Given the description of an element on the screen output the (x, y) to click on. 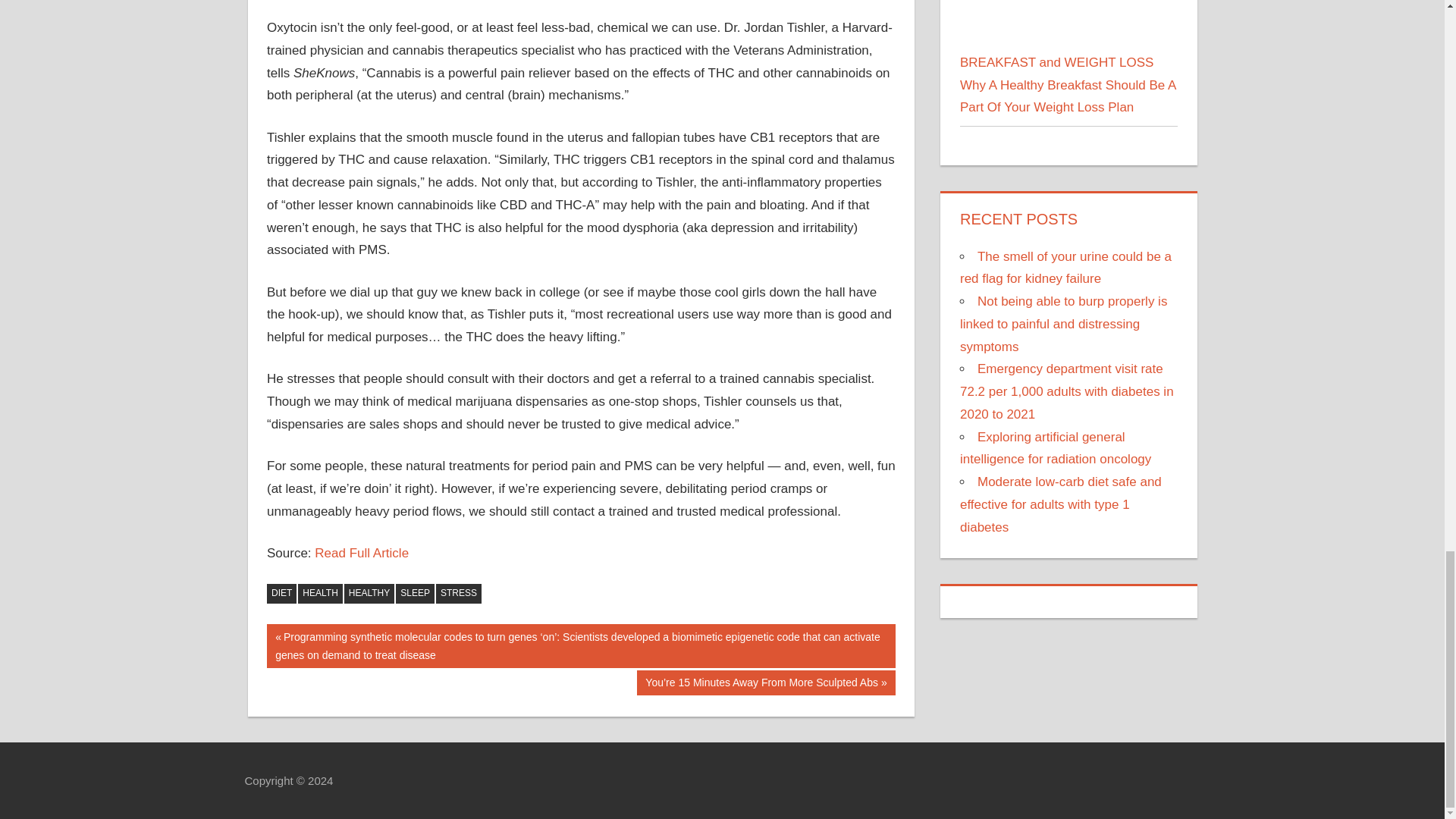
DIET (281, 593)
HEALTHY (368, 593)
HEALTH (320, 593)
Read Full Article (361, 553)
STRESS (458, 593)
SLEEP (414, 593)
